Given the description of an element on the screen output the (x, y) to click on. 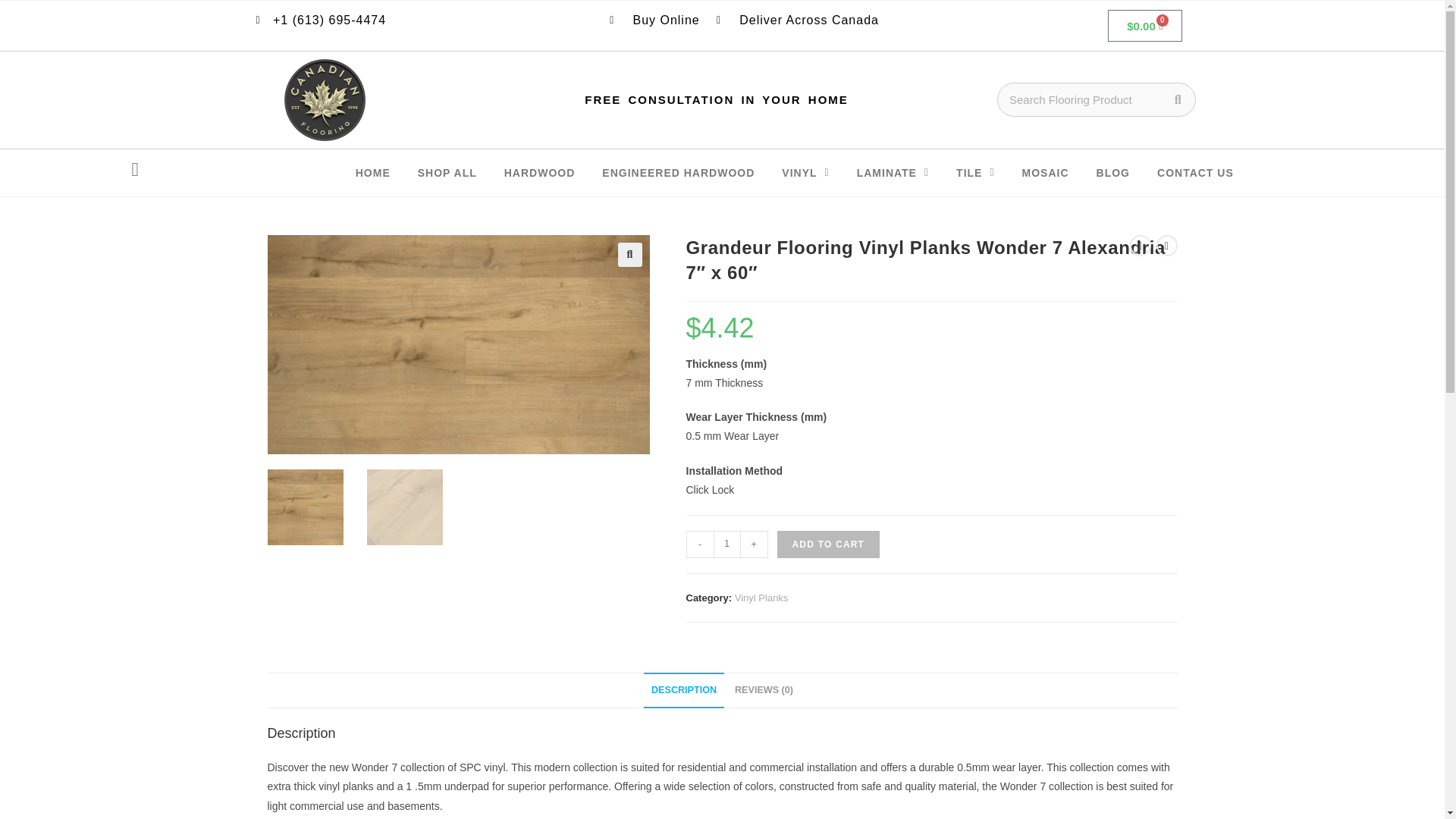
1 (726, 543)
f6debc16-087f-11ed-86ce-f6968cef729a.jpg (457, 344)
